Given the description of an element on the screen output the (x, y) to click on. 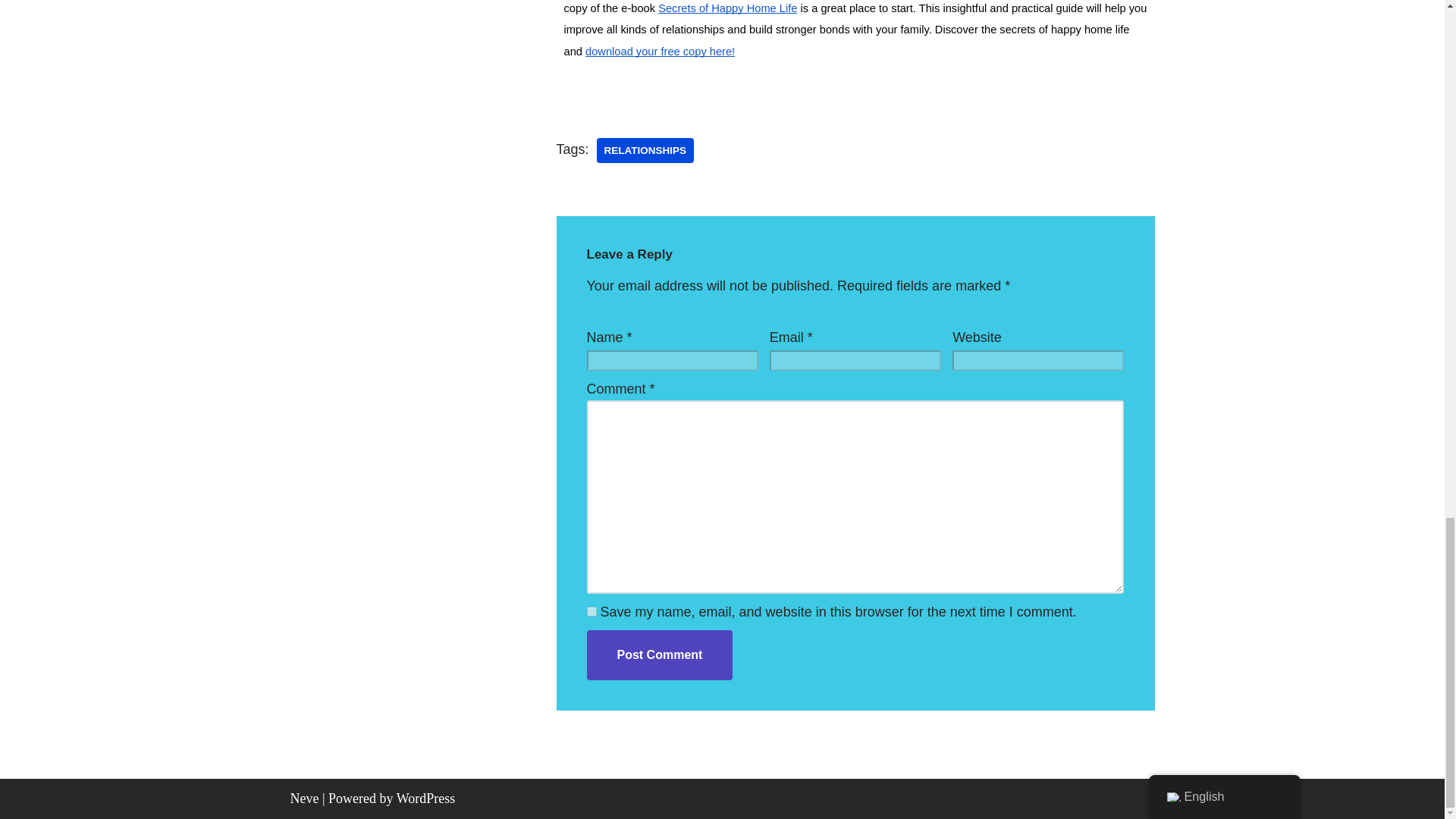
yes (591, 611)
relationships (645, 150)
Post Comment (659, 654)
